Given the description of an element on the screen output the (x, y) to click on. 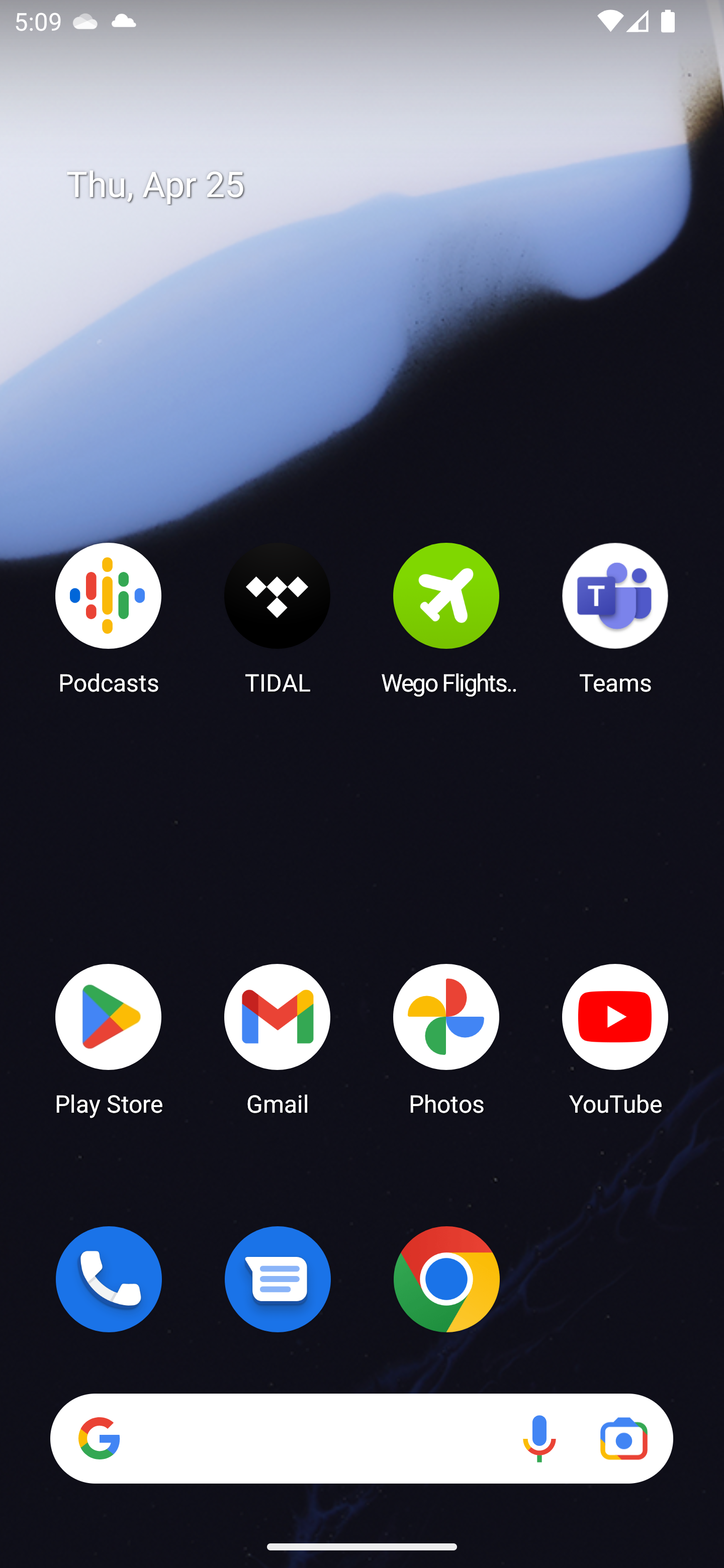
Thu, Apr 25 (375, 184)
Podcasts (108, 617)
TIDAL (277, 617)
Wego Flights & Hotels (445, 617)
Teams (615, 617)
Play Store (108, 1038)
Gmail (277, 1038)
Photos (445, 1038)
YouTube (615, 1038)
Phone (108, 1279)
Messages (277, 1279)
Chrome (446, 1279)
Search Voice search Google Lens (361, 1438)
Voice search (539, 1438)
Google Lens (623, 1438)
